Given the description of an element on the screen output the (x, y) to click on. 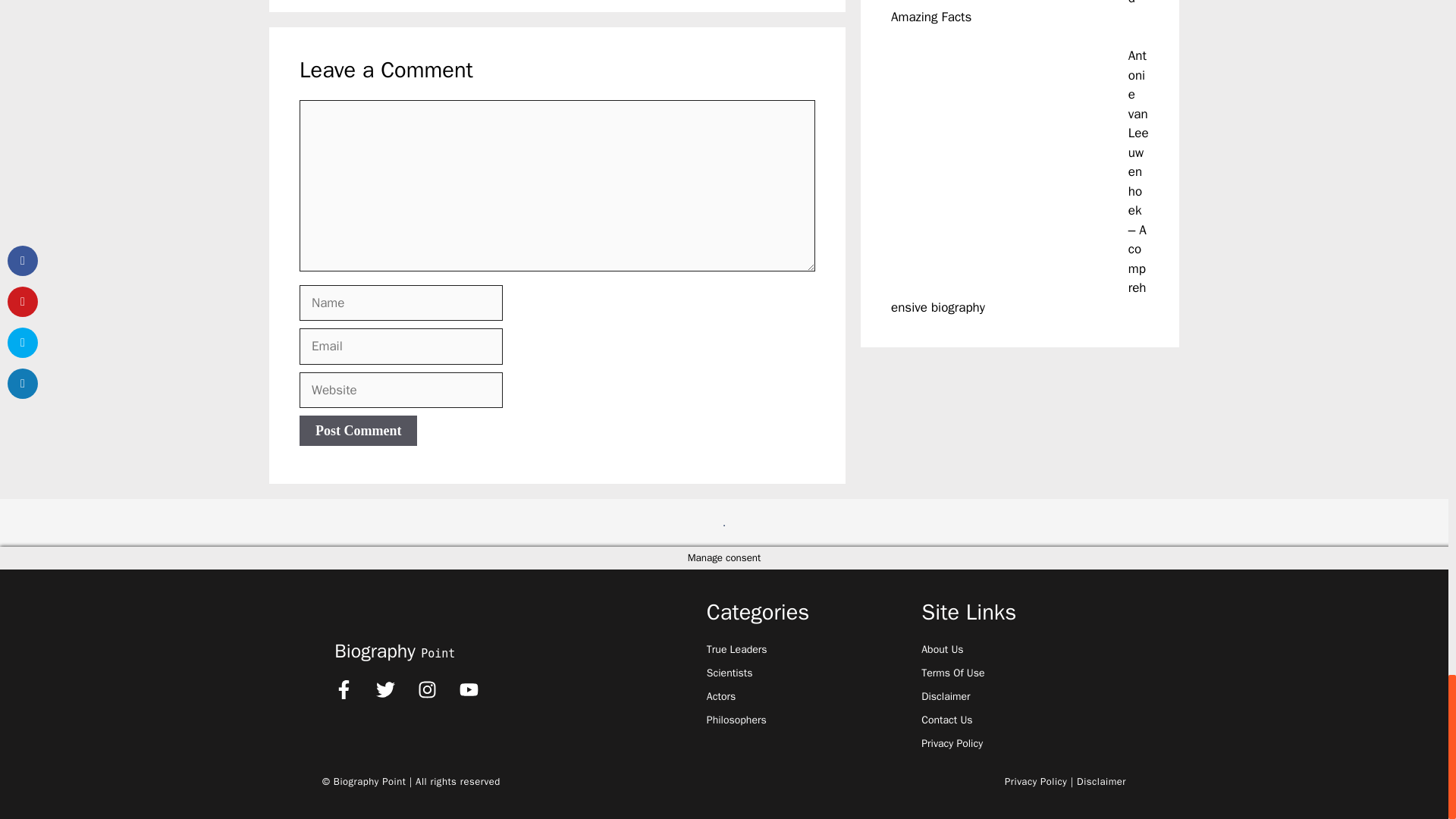
Post Comment (357, 430)
Post Comment (357, 430)
